Given the description of an element on the screen output the (x, y) to click on. 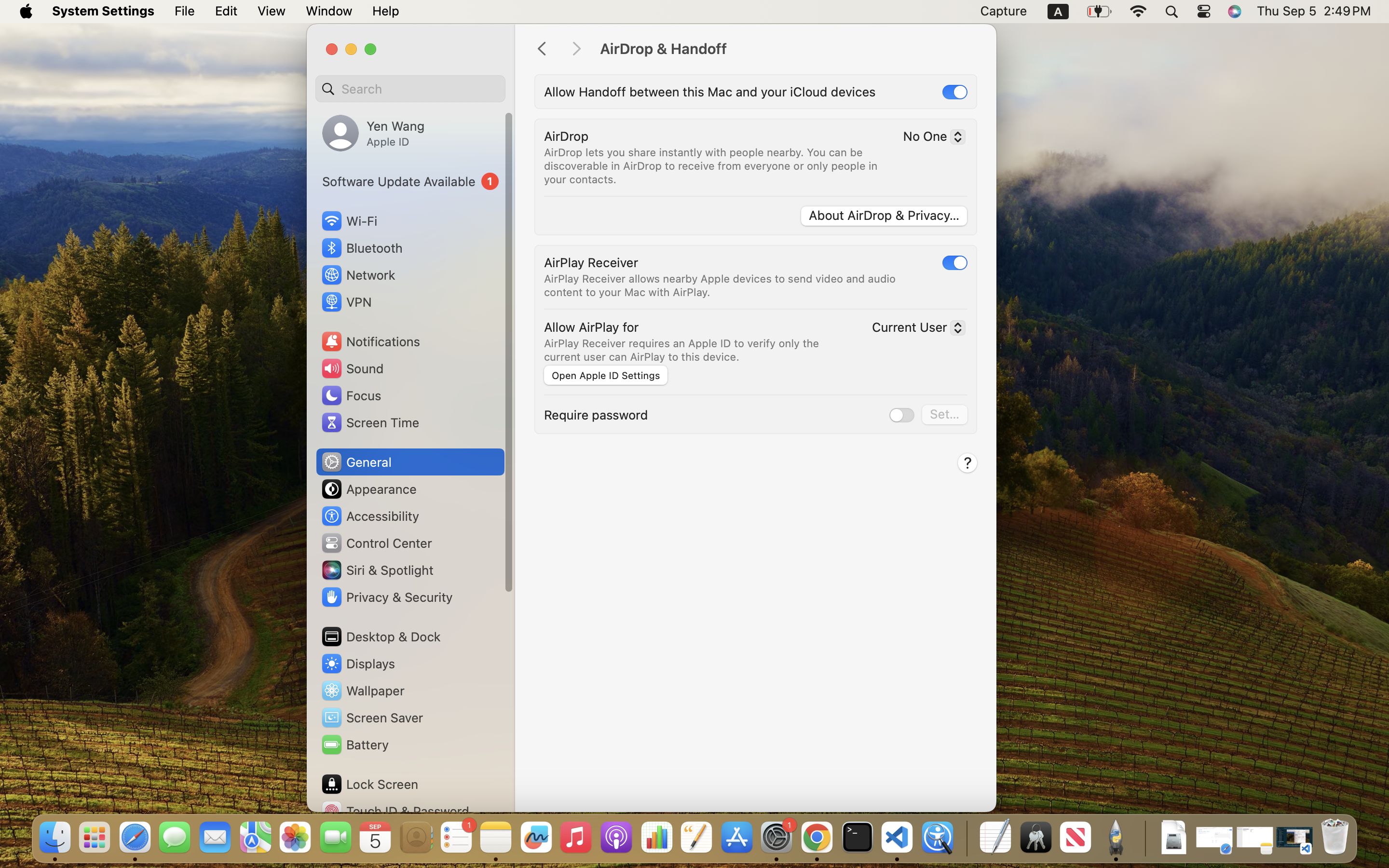
AirDrop Element type: AXStaticText (566, 135)
Notifications Element type: AXStaticText (370, 340)
Control Center Element type: AXStaticText (376, 542)
Appearance Element type: AXStaticText (368, 488)
0.4285714328289032 Element type: AXDockItem (965, 837)
